Given the description of an element on the screen output the (x, y) to click on. 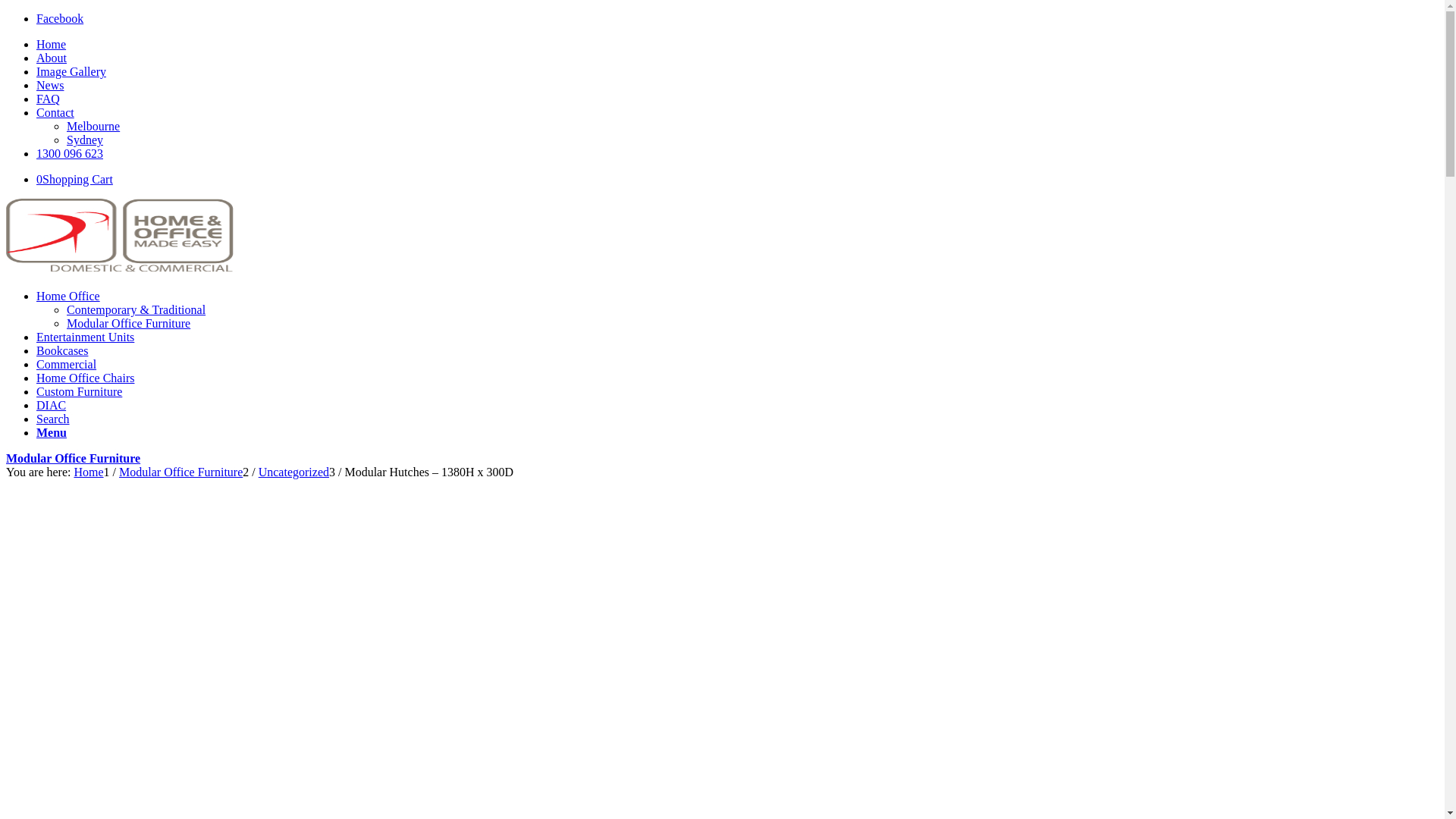
Modular Office Furniture Element type: text (128, 322)
Uncategorized Element type: text (293, 471)
Modular Office Furniture Element type: text (180, 471)
Sydney Element type: text (84, 139)
Modular Office Furniture Element type: text (73, 457)
1300 096 623 Element type: text (69, 153)
Entertainment Units Element type: text (85, 336)
Image Gallery Element type: text (71, 71)
Contemporary & Traditional Element type: text (135, 309)
Melbourne Element type: text (92, 125)
DIAC Element type: text (50, 404)
Home Element type: text (50, 43)
Home Element type: text (88, 471)
Facebook Element type: text (59, 18)
Search Element type: text (52, 418)
0Shopping Cart Element type: text (74, 178)
Commercial Element type: text (66, 363)
News Element type: text (49, 84)
About Element type: text (51, 57)
FAQ Element type: text (47, 98)
Bookcases Element type: text (61, 350)
Menu Element type: text (51, 432)
Custom Furniture Element type: text (79, 391)
Contact Element type: text (55, 112)
Home Office Element type: text (68, 295)
Home Office Chairs Element type: text (85, 377)
